Given the description of an element on the screen output the (x, y) to click on. 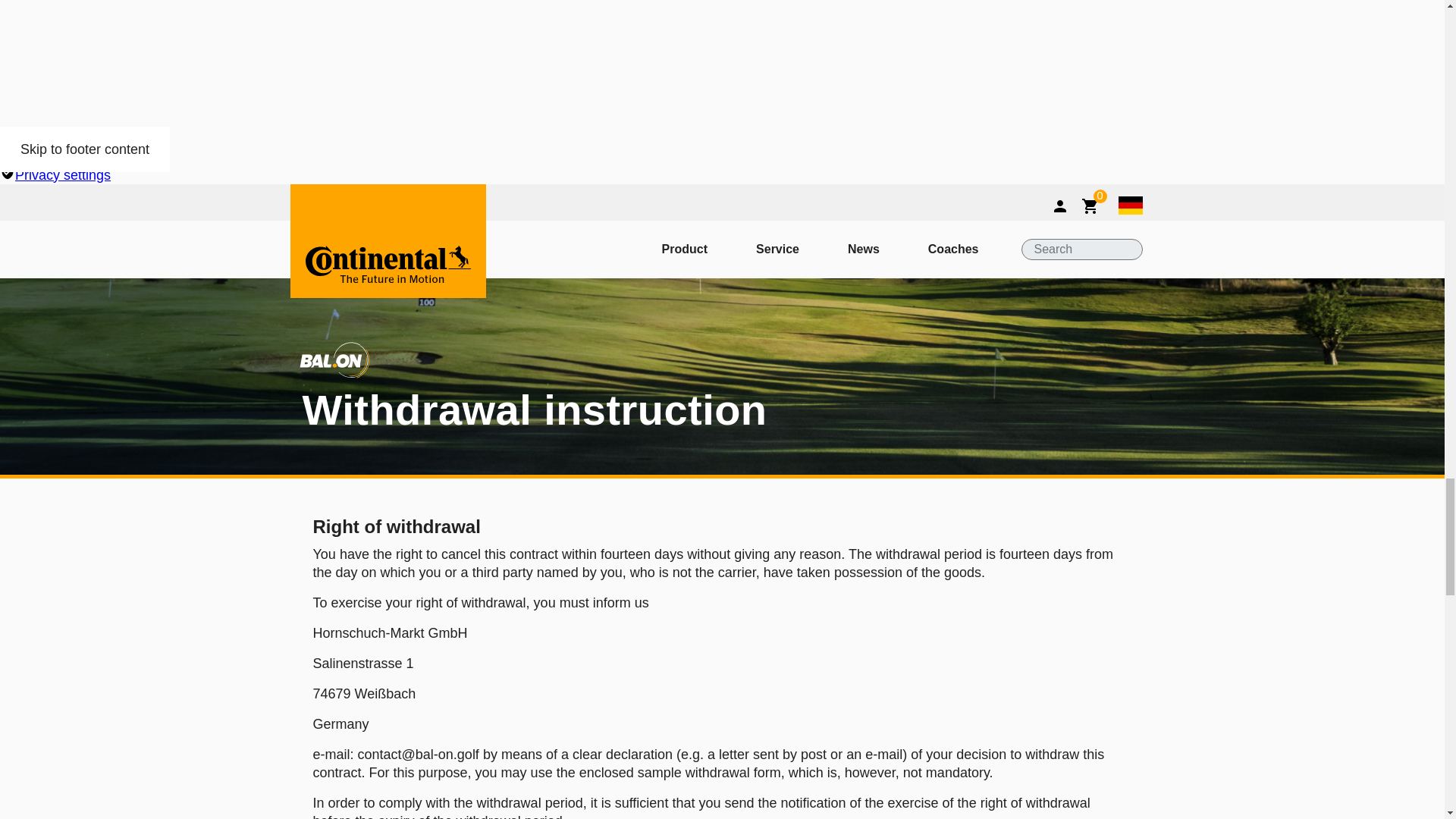
0 (1098, 204)
Cart 0 Items (1098, 204)
Product (684, 248)
Service (777, 248)
Coaches (953, 248)
News (863, 248)
Skip to footer content (85, 148)
BAL.ON Home (387, 268)
Skip to main content (82, 148)
